Given the description of an element on the screen output the (x, y) to click on. 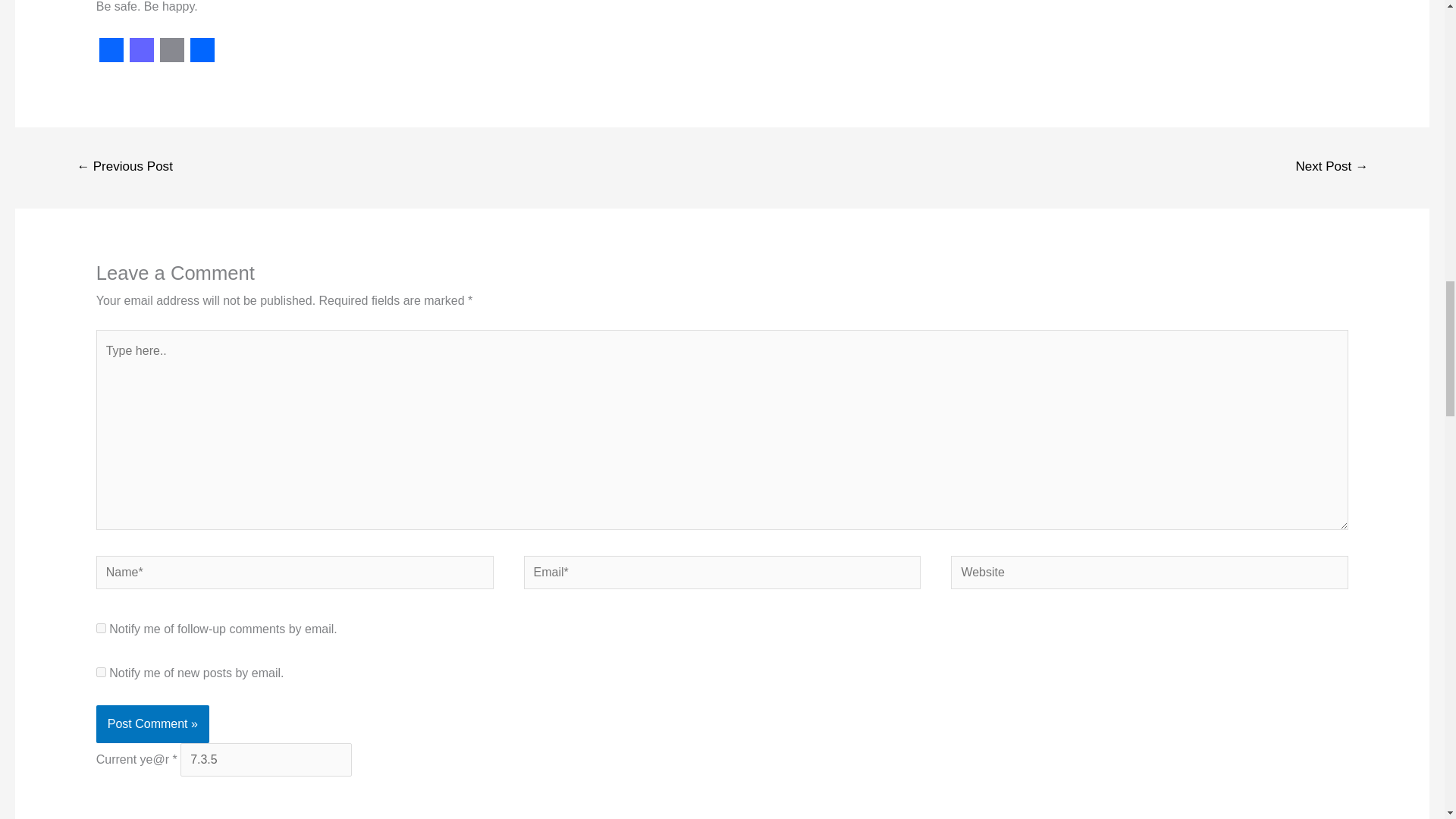
Facebook (111, 49)
subscribe (101, 628)
Mastodon (141, 49)
Email (172, 49)
subscribe (101, 672)
7.3.5 (266, 759)
